Given the description of an element on the screen output the (x, y) to click on. 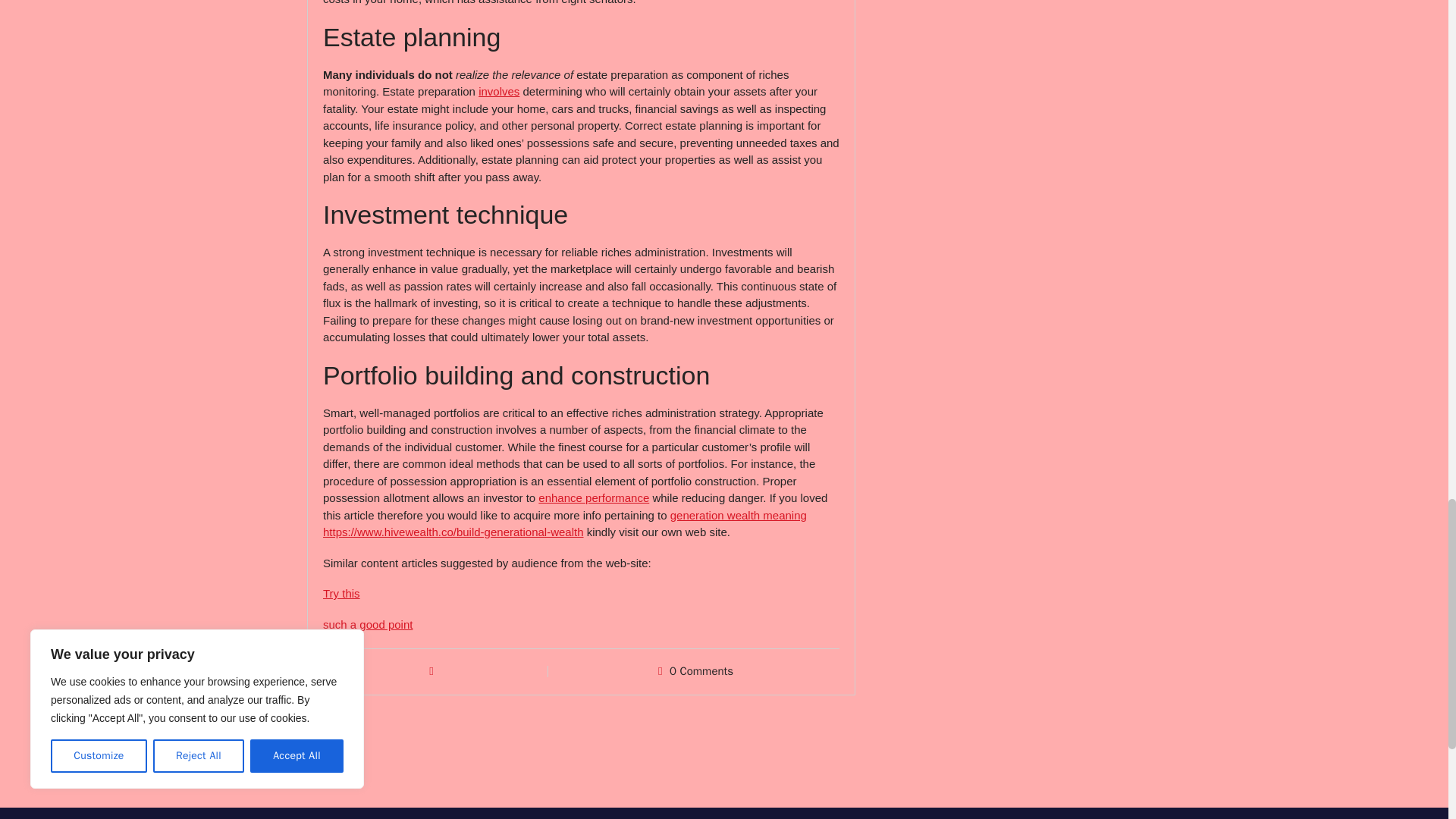
Try this (341, 593)
enhance performance (593, 497)
such a good point (367, 624)
involves (499, 91)
